Given the description of an element on the screen output the (x, y) to click on. 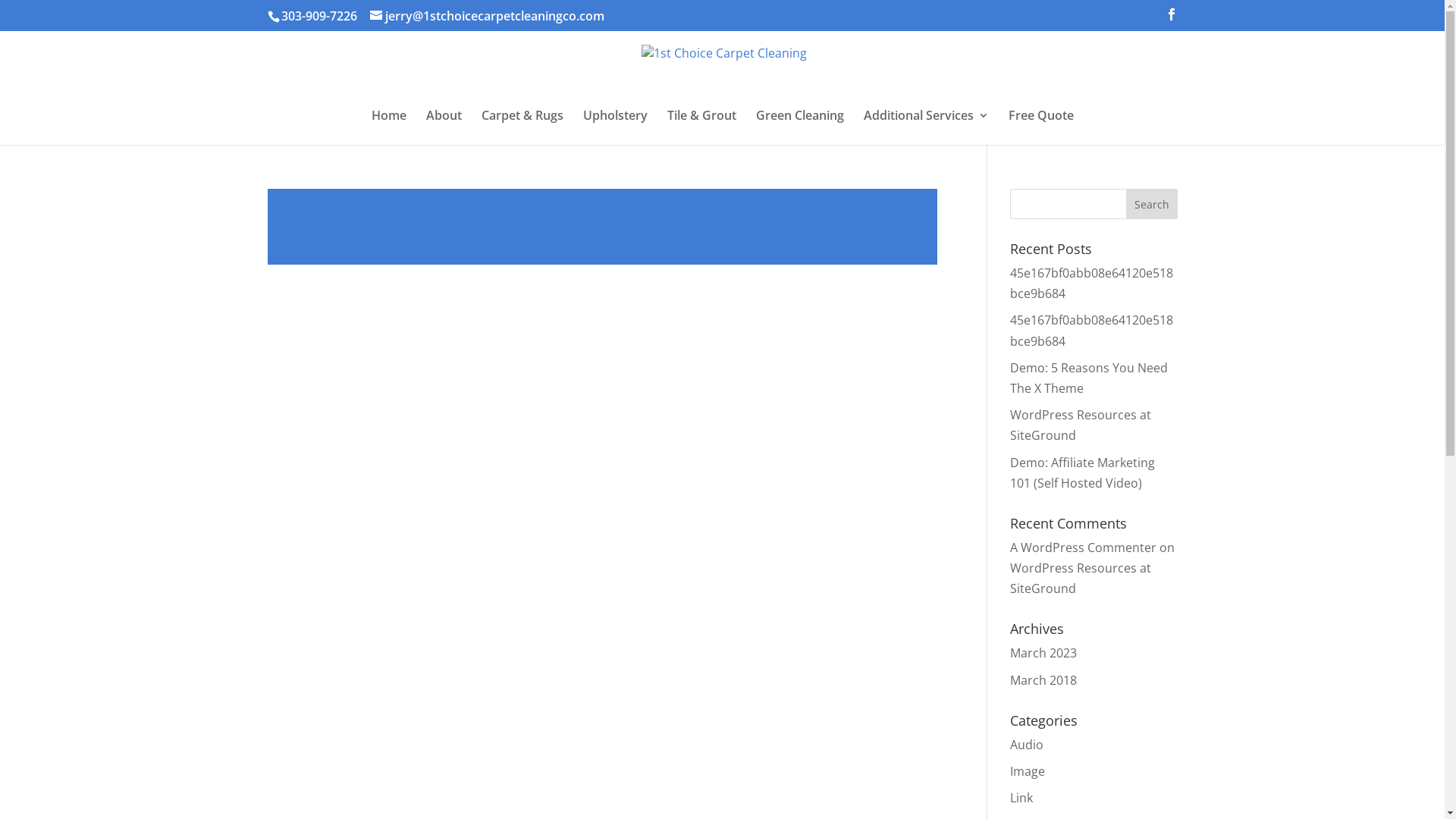
About Element type: text (443, 126)
Demo: Affiliate Marketing 101 (Self Hosted Video) Element type: text (1082, 471)
March 2018 Element type: text (1043, 679)
Search Element type: text (1151, 203)
jerry@1stchoicecarpetcleaningco.com Element type: text (487, 15)
45e167bf0abb08e64120e518bce9b684 Element type: text (1091, 329)
WordPress Resources at SiteGround Element type: text (1080, 577)
Green Cleaning Element type: text (799, 126)
March 2023 Element type: text (1043, 652)
WordPress Resources at SiteGround Element type: text (1080, 424)
Carpet & Rugs Element type: text (521, 126)
Additional Services Element type: text (925, 126)
45e167bf0abb08e64120e518bce9b684 Element type: text (1091, 282)
Tile & Grout Element type: text (701, 126)
Home Element type: text (388, 126)
Audio Element type: text (1026, 744)
A WordPress Commenter Element type: text (1083, 547)
Free Quote Element type: text (1040, 126)
Link Element type: text (1021, 797)
Upholstery Element type: text (614, 126)
Read more Element type: text (601, 226)
Demo: 5 Reasons You Need The X Theme Element type: text (1088, 377)
Image Element type: text (1027, 770)
